Given the description of an element on the screen output the (x, y) to click on. 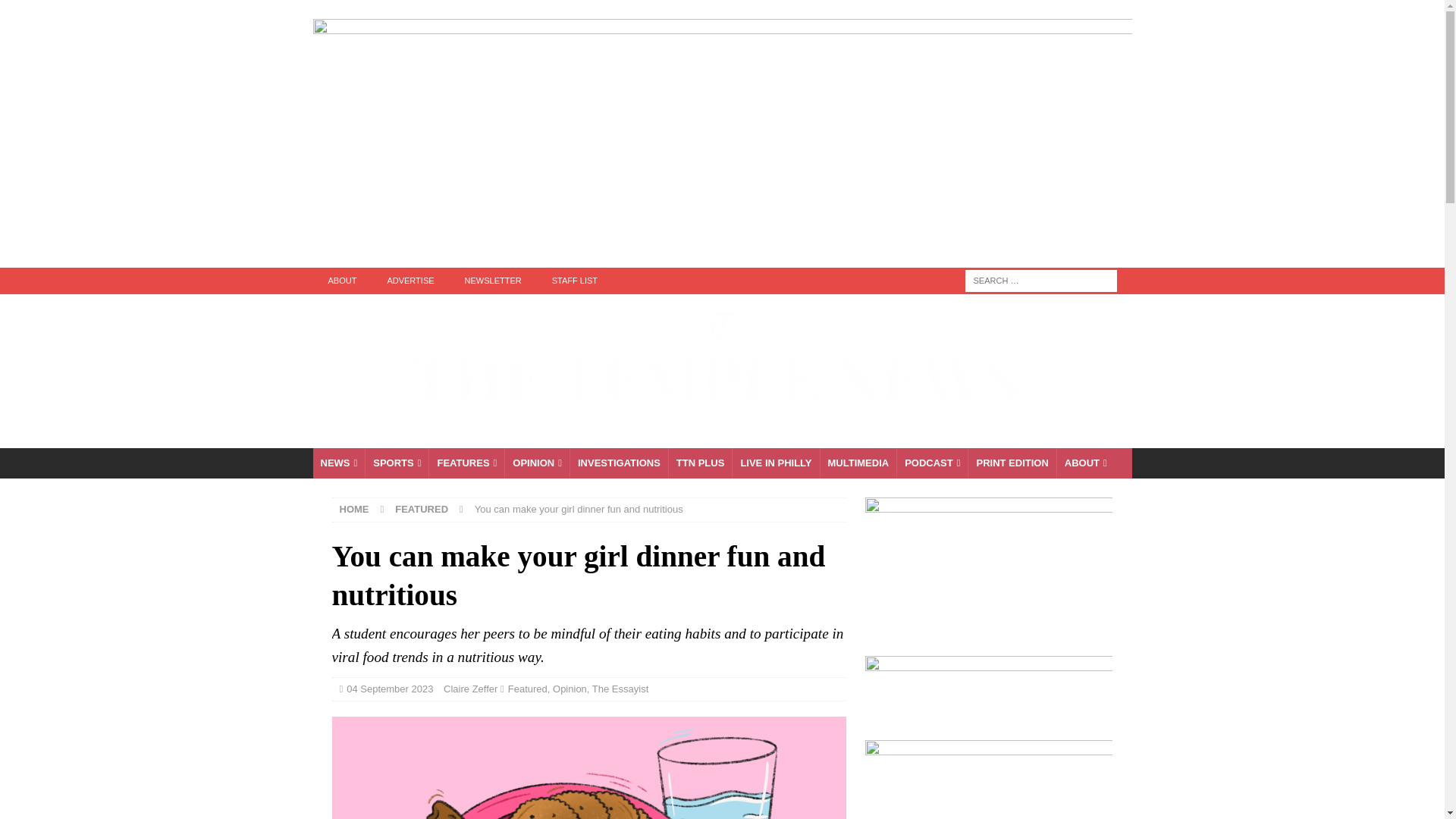
Search (56, 11)
FEATURES (465, 463)
Longform (700, 463)
Posts by Claire Zeffer (470, 687)
STAFF LIST (574, 280)
ADVERTISE (409, 280)
NEWSLETTER (493, 280)
SPORTS (396, 463)
NEWS (339, 463)
